Given the description of an element on the screen output the (x, y) to click on. 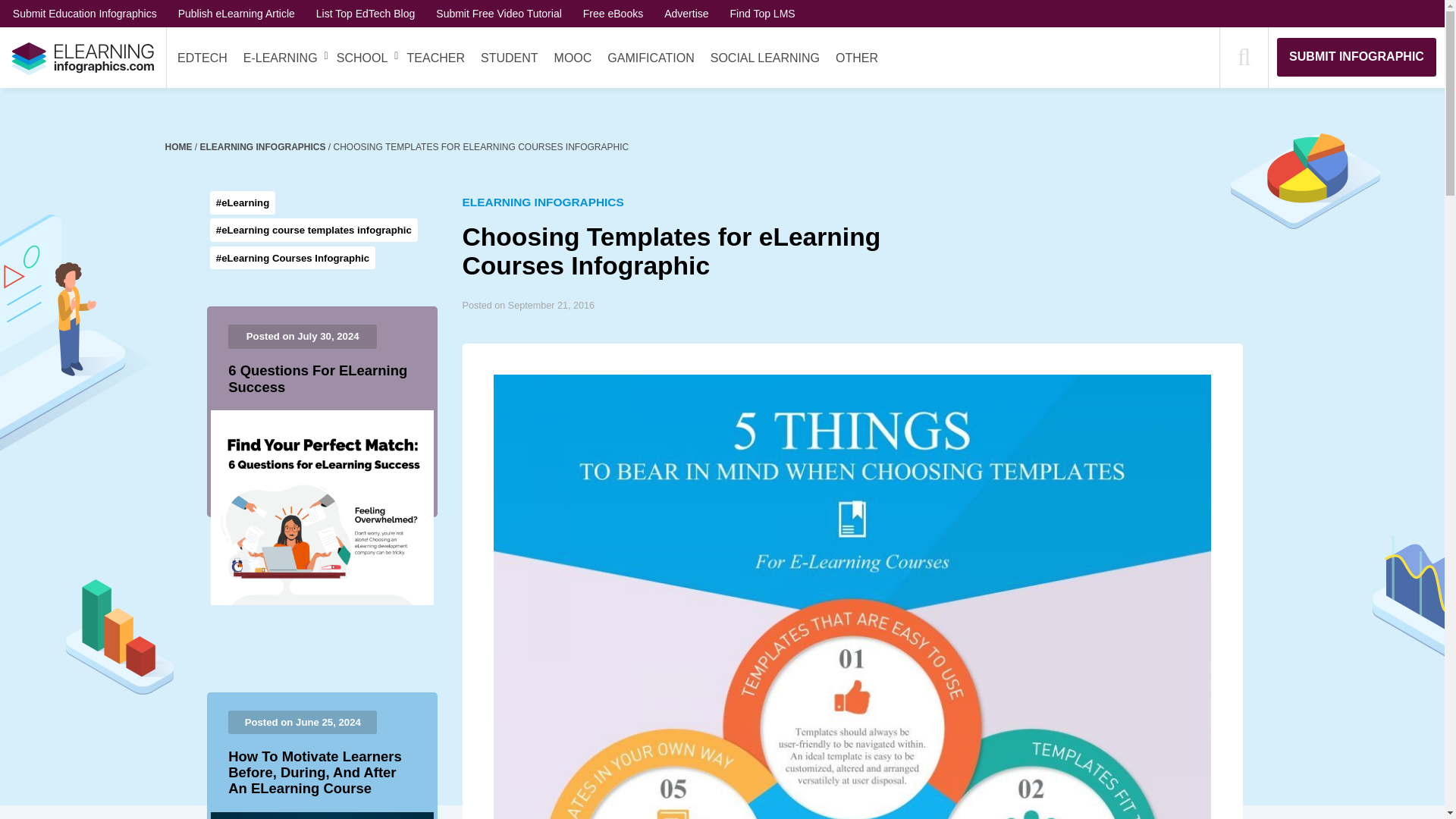
SUBMIT INFOGRAPHIC (1355, 56)
Free eBooks (613, 13)
Submit Education Infographics (85, 13)
Publish eLearning Article (236, 13)
Student Infographics (509, 58)
STUDENT (509, 58)
Gamification Infographics (650, 58)
Submit Free Video Tutorial (498, 13)
SOCIAL LEARNING (764, 58)
HOME (180, 146)
Teacher Infographics (435, 58)
Advertise (685, 13)
E-LEARNING (280, 58)
Find Top LMS (762, 13)
ELEARNING INFOGRAPHICS (264, 146)
